Given the description of an element on the screen output the (x, y) to click on. 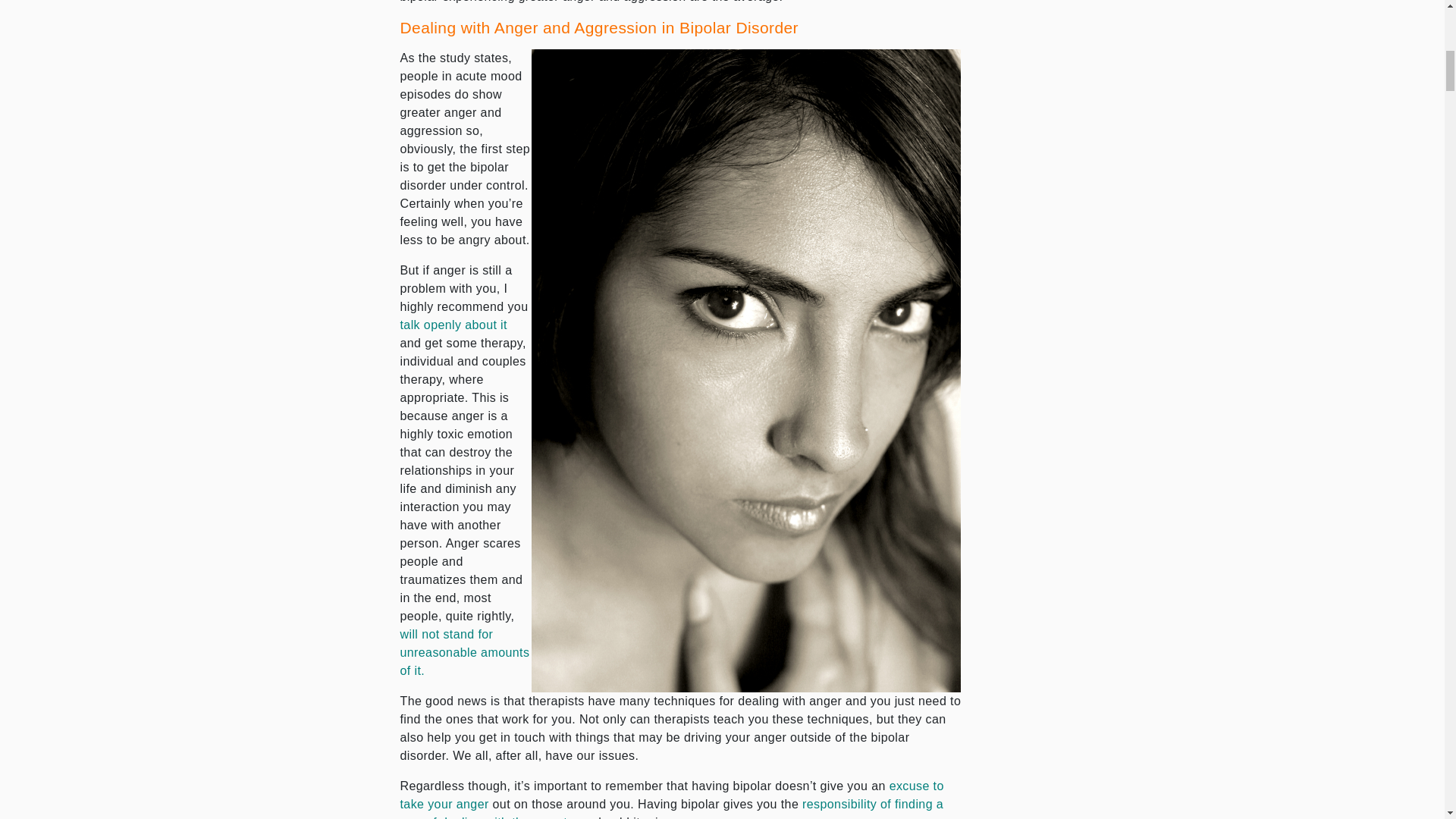
Bipolar Disorder - An Excuse for Bad Behavior? (671, 794)
Beating Bipolar - Do What You Don't Want to Do (671, 808)
Talking ABout Bipolar When You Have Bipolar (453, 324)
Fear of Abandonment Due to Mental Illness (464, 652)
